Given the description of an element on the screen output the (x, y) to click on. 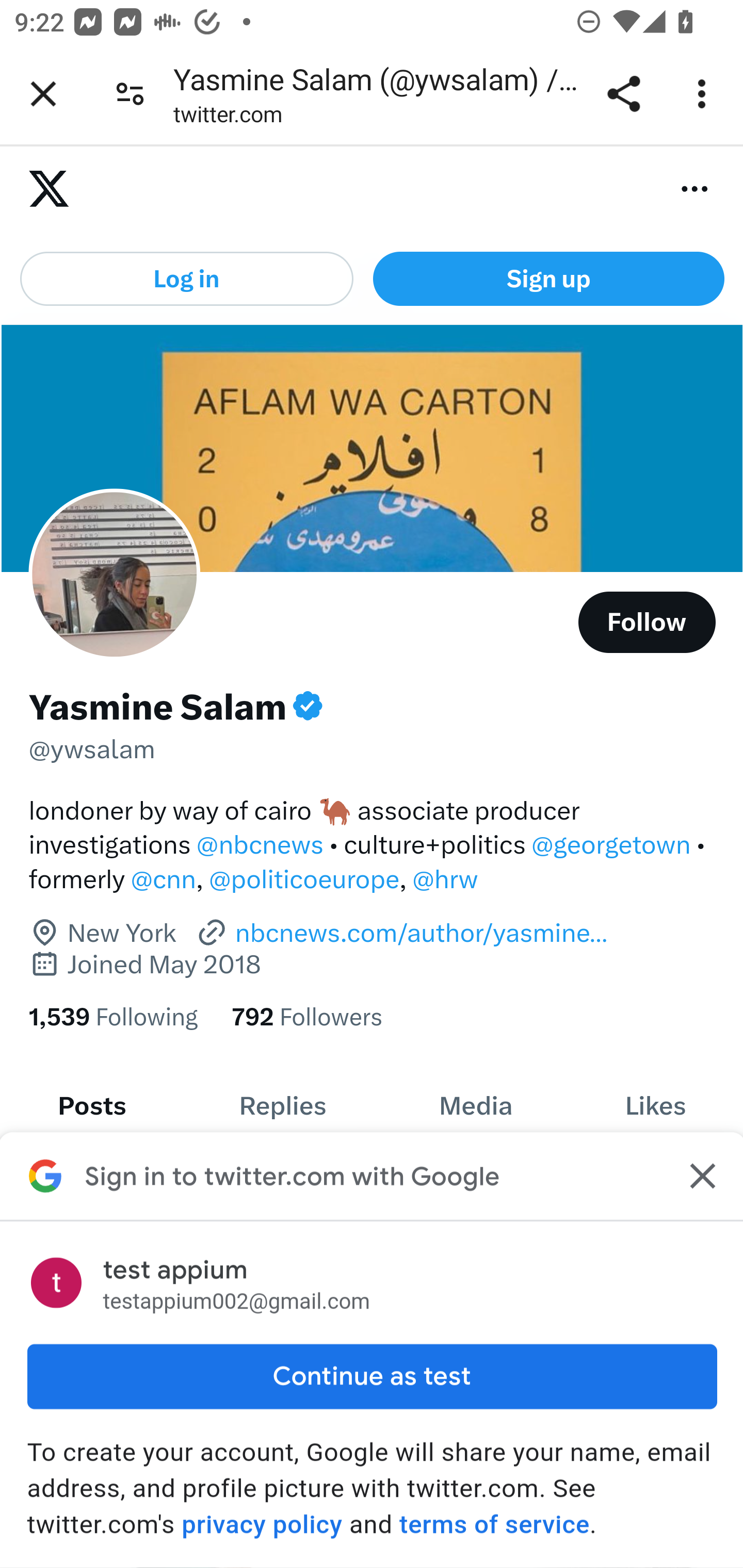
Close tab (43, 93)
Share (623, 93)
Customize and control Google Chrome (705, 93)
Connection is secure (129, 93)
twitter.com (228, 117)
Follow @ywsalam (647, 621)
Provides details about verified accounts. (307, 705)
@nbcnews (259, 843)
@georgetown (611, 843)
@cnn (163, 878)
@politicoeurope (304, 878)
@hrw (444, 878)
nbcnews.com/author/yasmine… (401, 932)
1,539 Following 1,539   Following (112, 1016)
792 Followers 792   Followers (307, 1016)
Posts (92, 1105)
Replies (283, 1105)
Media (475, 1105)
Likes (654, 1105)
Close (700, 1175)
Continue as test (371, 1376)
privacy policy (261, 1523)
terms of service (493, 1523)
